Given the description of an element on the screen output the (x, y) to click on. 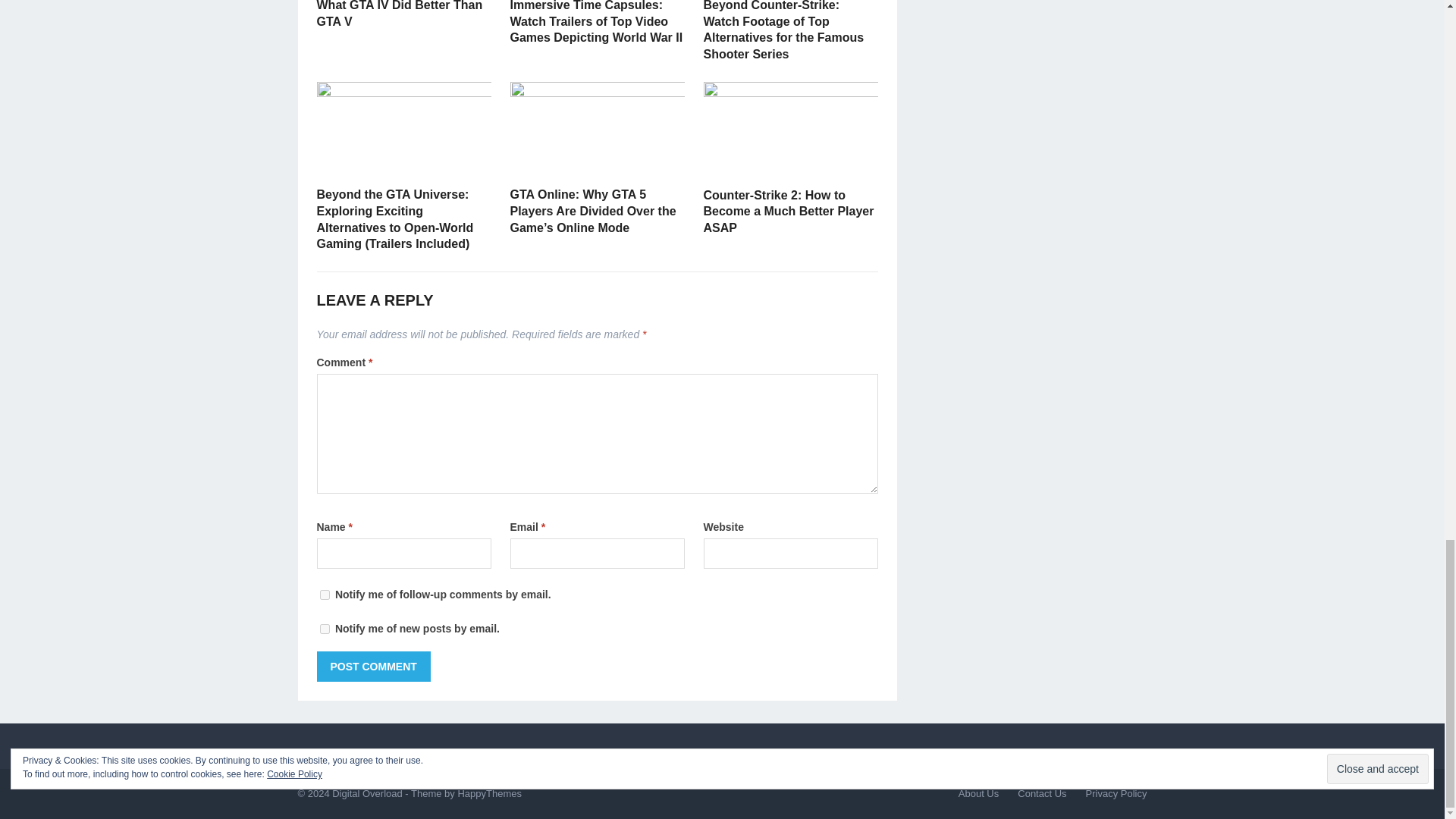
subscribe (325, 628)
Counter-Strike 2: How to Become a Much Better Player ASAP (789, 211)
Post Comment (373, 666)
subscribe (325, 594)
Post Comment (373, 666)
What GTA IV Did Better Than GTA V (400, 13)
